Given the description of an element on the screen output the (x, y) to click on. 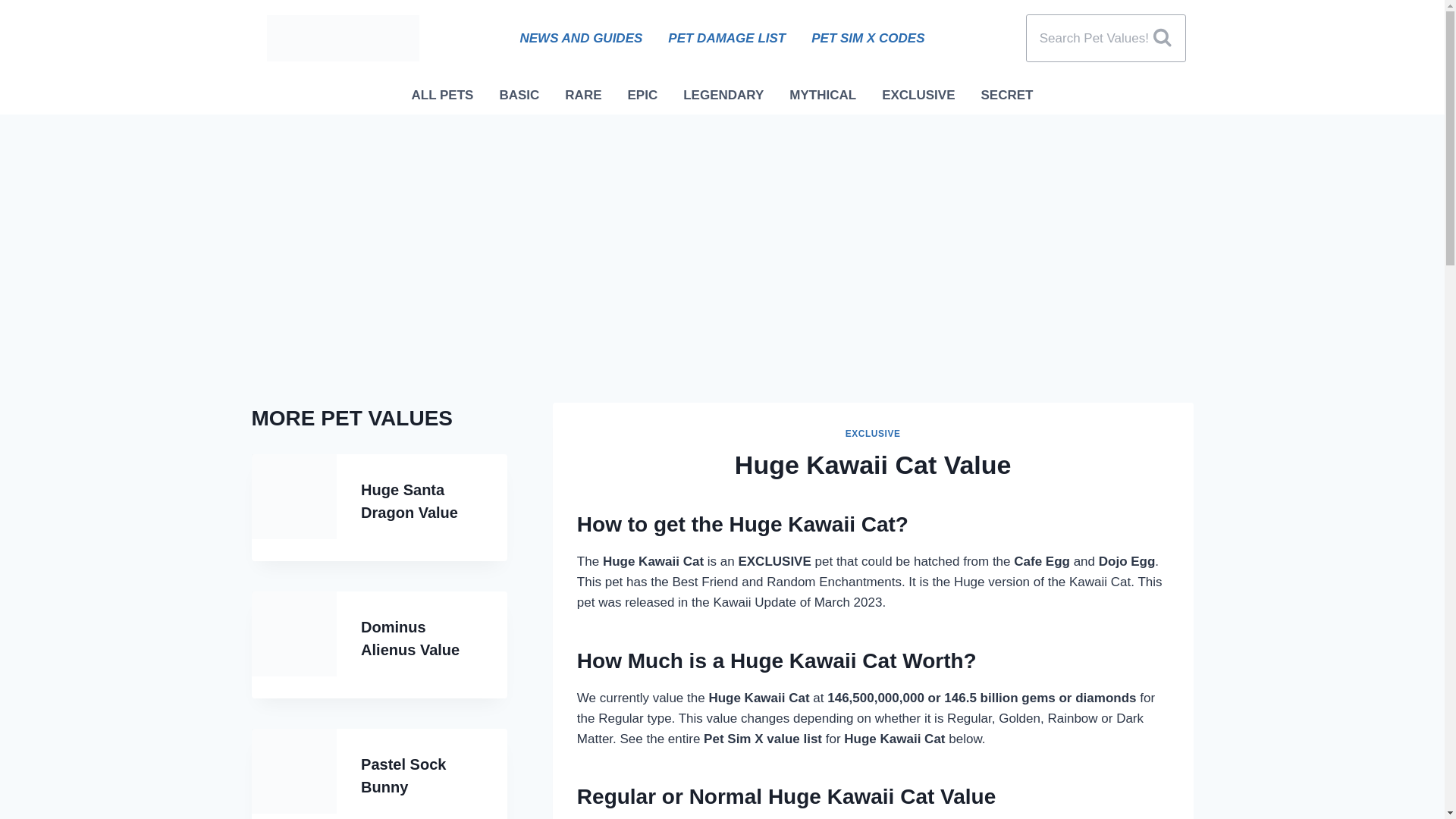
SECRET (1006, 95)
EPIC (641, 95)
NEWS AND GUIDES (580, 38)
EXCLUSIVE (873, 433)
PET SIM X CODES (867, 38)
MYTHICAL (822, 95)
PET DAMAGE LIST (726, 38)
RARE (582, 95)
EXCLUSIVE (918, 95)
Dominus Alienus Value (410, 638)
LEGENDARY (722, 95)
Pastel Sock Bunny (403, 774)
ALL PETS (442, 95)
Huge Santa Dragon Value (409, 500)
